Given the description of an element on the screen output the (x, y) to click on. 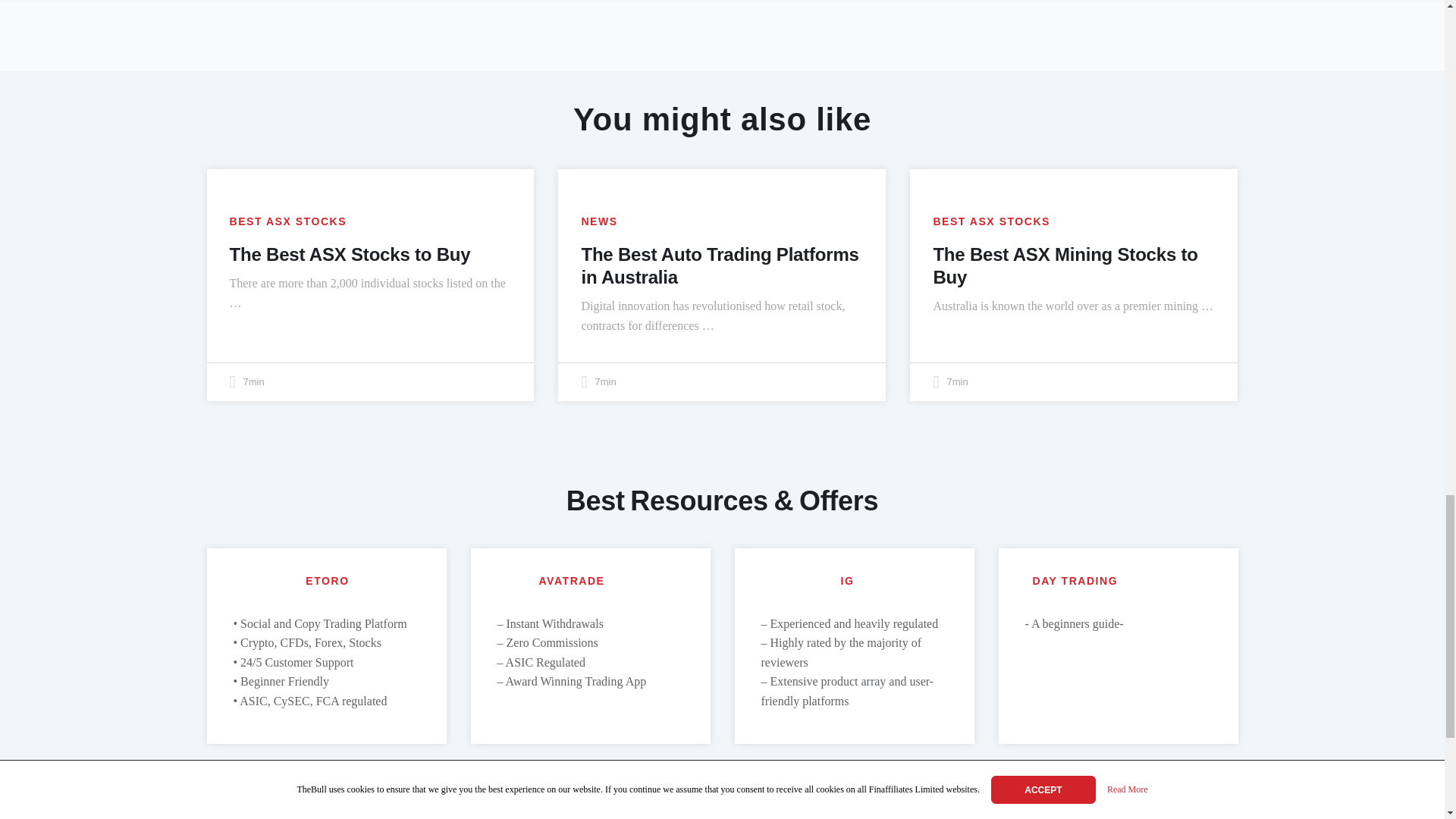
The Best Auto Trading Platforms in Australia (719, 265)
BEST ASX STOCKS (287, 221)
NEWS (598, 221)
The Best ASX Stocks to Buy (349, 254)
